Given the description of an element on the screen output the (x, y) to click on. 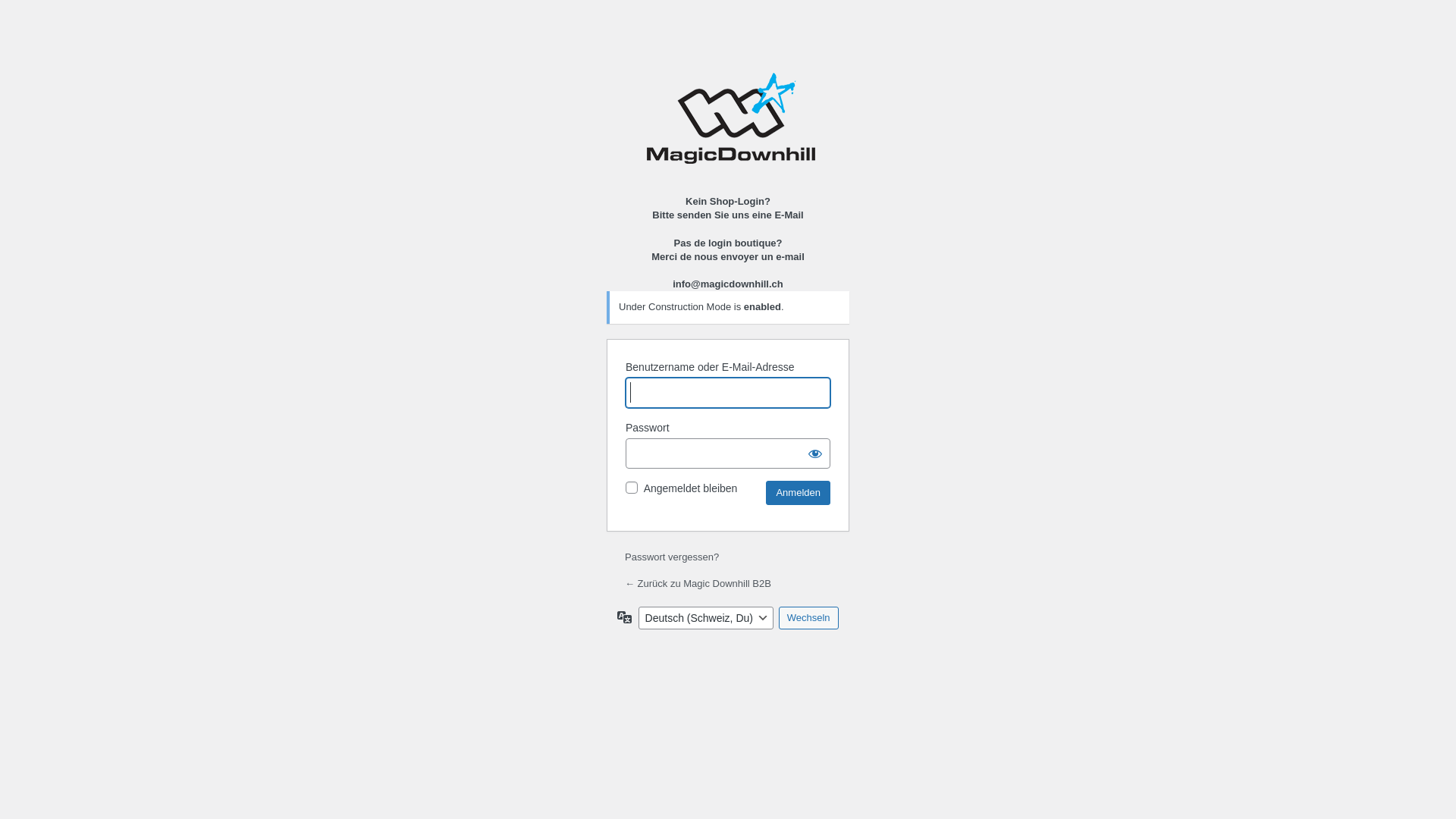
Magic Downhill B2B Element type: text (730, 123)
Wechseln Element type: text (808, 617)
Passwort vergessen? Element type: text (671, 555)
Anmelden Element type: text (797, 492)
